Given the description of an element on the screen output the (x, y) to click on. 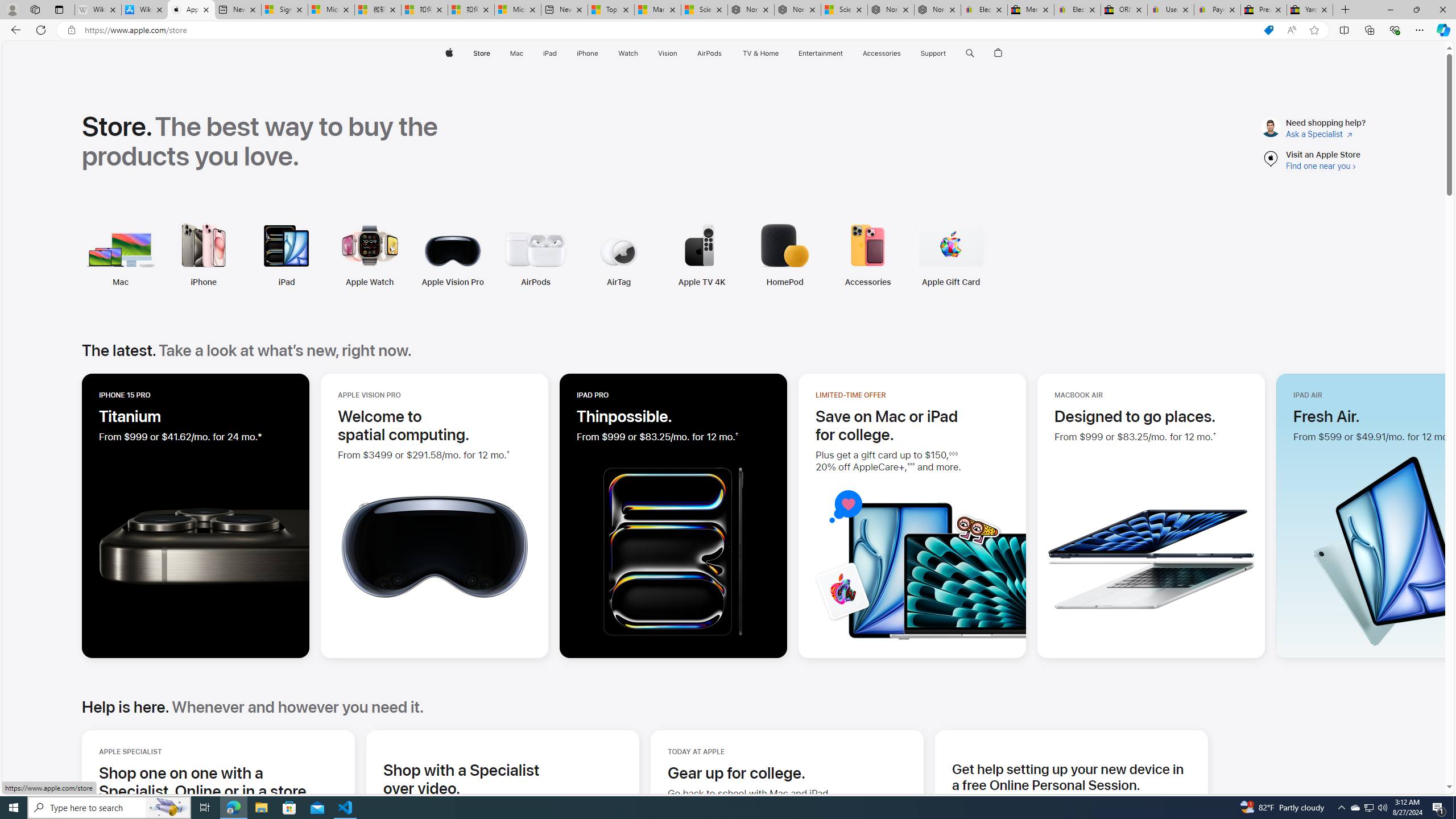
Gear up for college. - (Opens in a new window) (736, 772)
Thinpossible. (624, 416)
TV and Home menu (780, 53)
Shop one on one with a Specialist. Online or in a store. (218, 781)
TV & Home (759, 53)
Accessories (790, 254)
AirPods menu (723, 53)
